Given the description of an element on the screen output the (x, y) to click on. 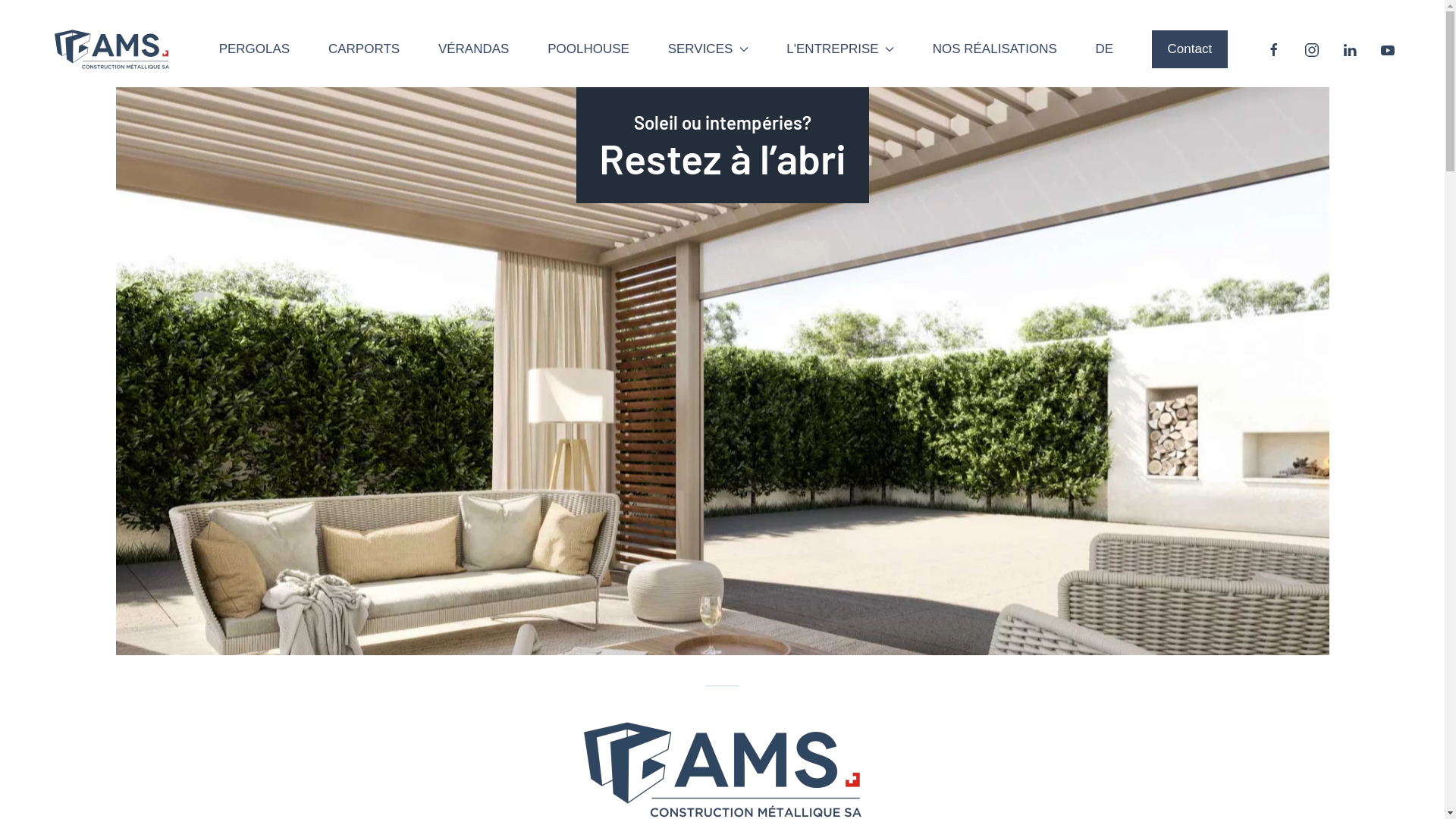
SERVICES Element type: text (708, 49)
POOLHOUSE Element type: text (588, 49)
Contact Element type: text (1189, 49)
DE Element type: text (1104, 49)
CARPORTS Element type: text (363, 49)
L'ENTREPRISE Element type: text (840, 49)
PERGOLAS Element type: text (254, 49)
